Given the description of an element on the screen output the (x, y) to click on. 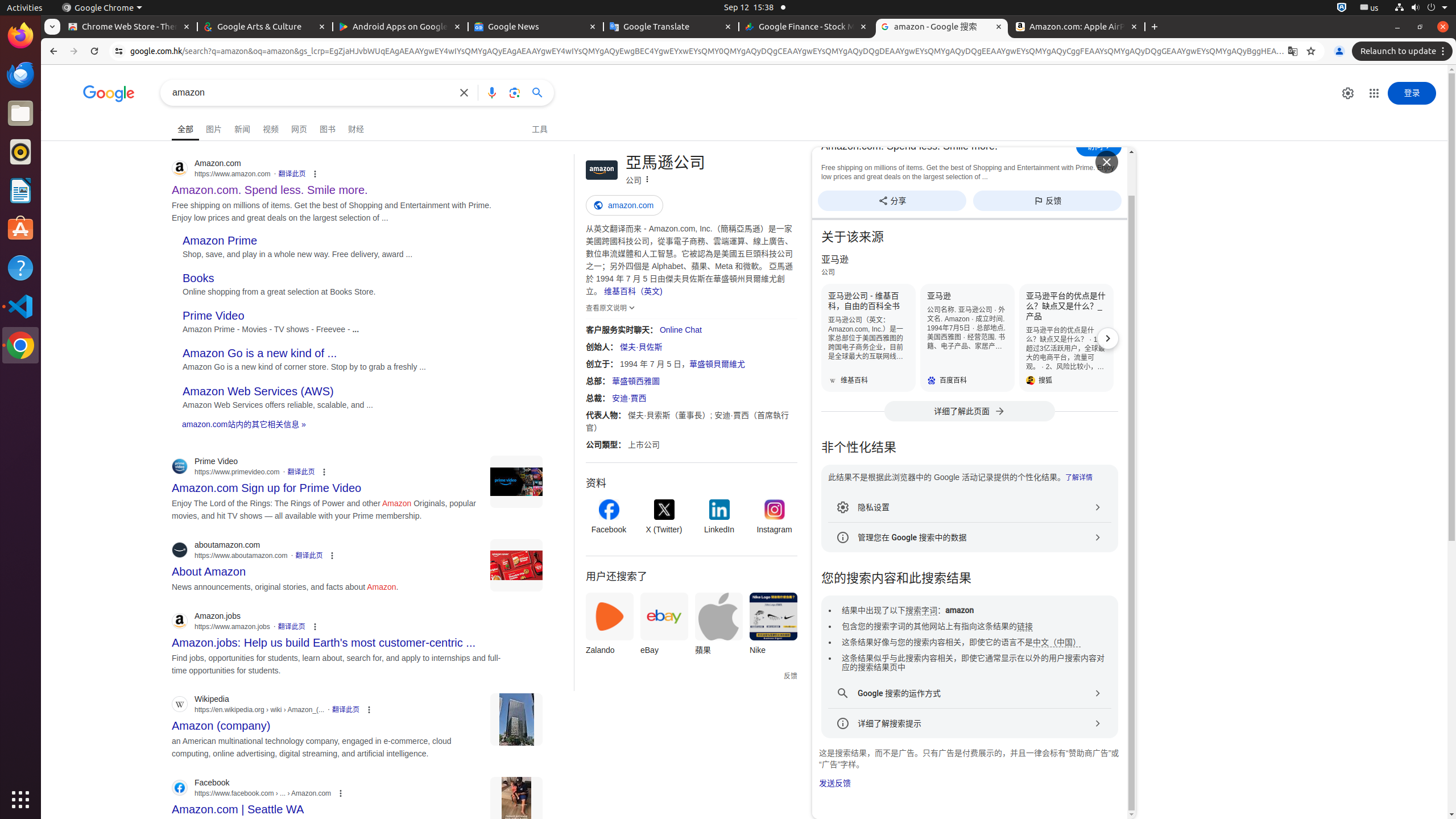
Zalando Element type: link (609, 627)
Prime Video Element type: link (213, 315)
Google Chrome Element type: push-button (20, 344)
按语音搜索 Element type: push-button (491, 92)
包含您的搜索字词的其他网站上有指向这条结果的链接 Element type: push-button (936, 626)
